Given the description of an element on the screen output the (x, y) to click on. 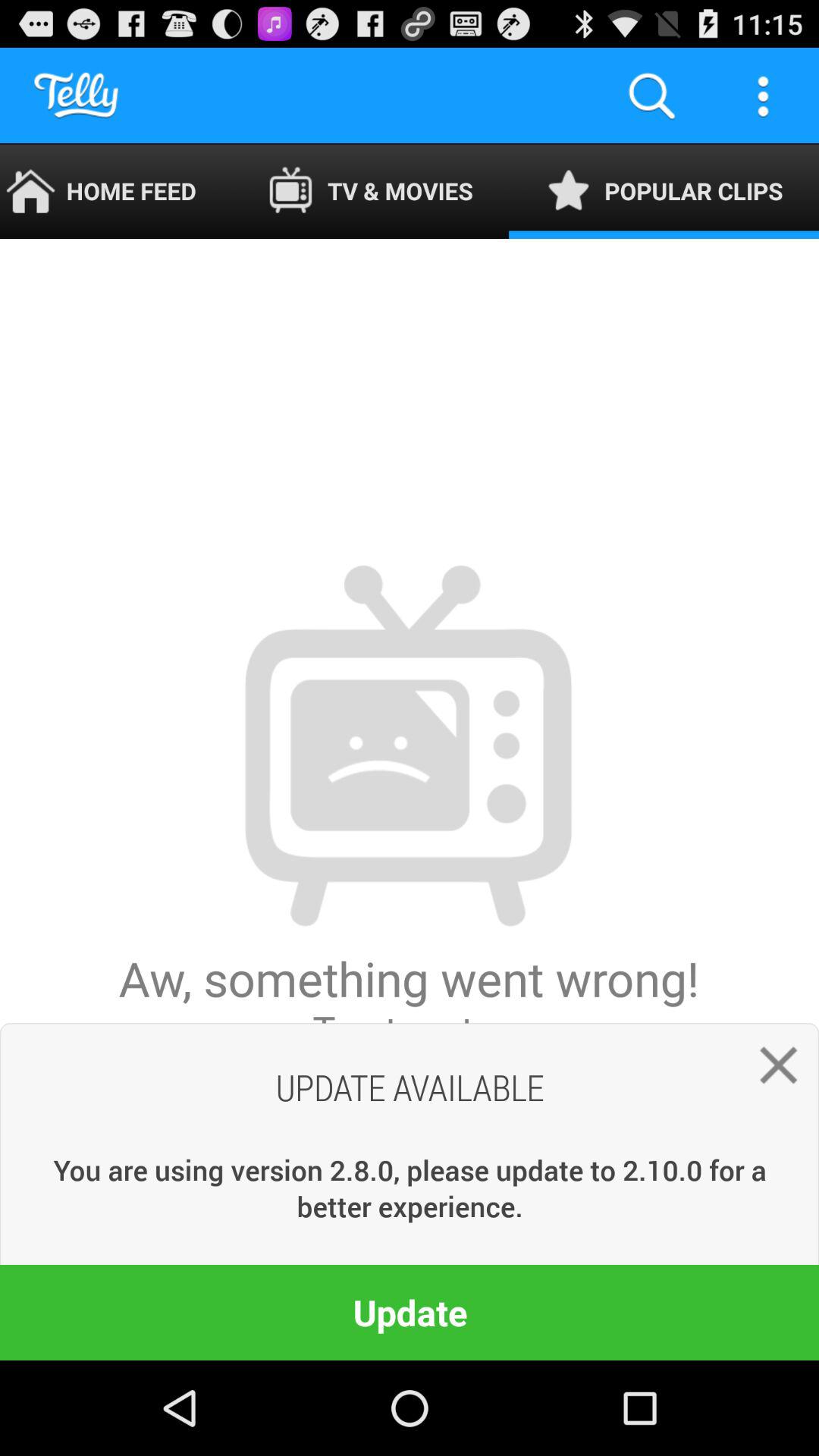
turn on the item to the right of the tv & movies app (651, 95)
